Given the description of an element on the screen output the (x, y) to click on. 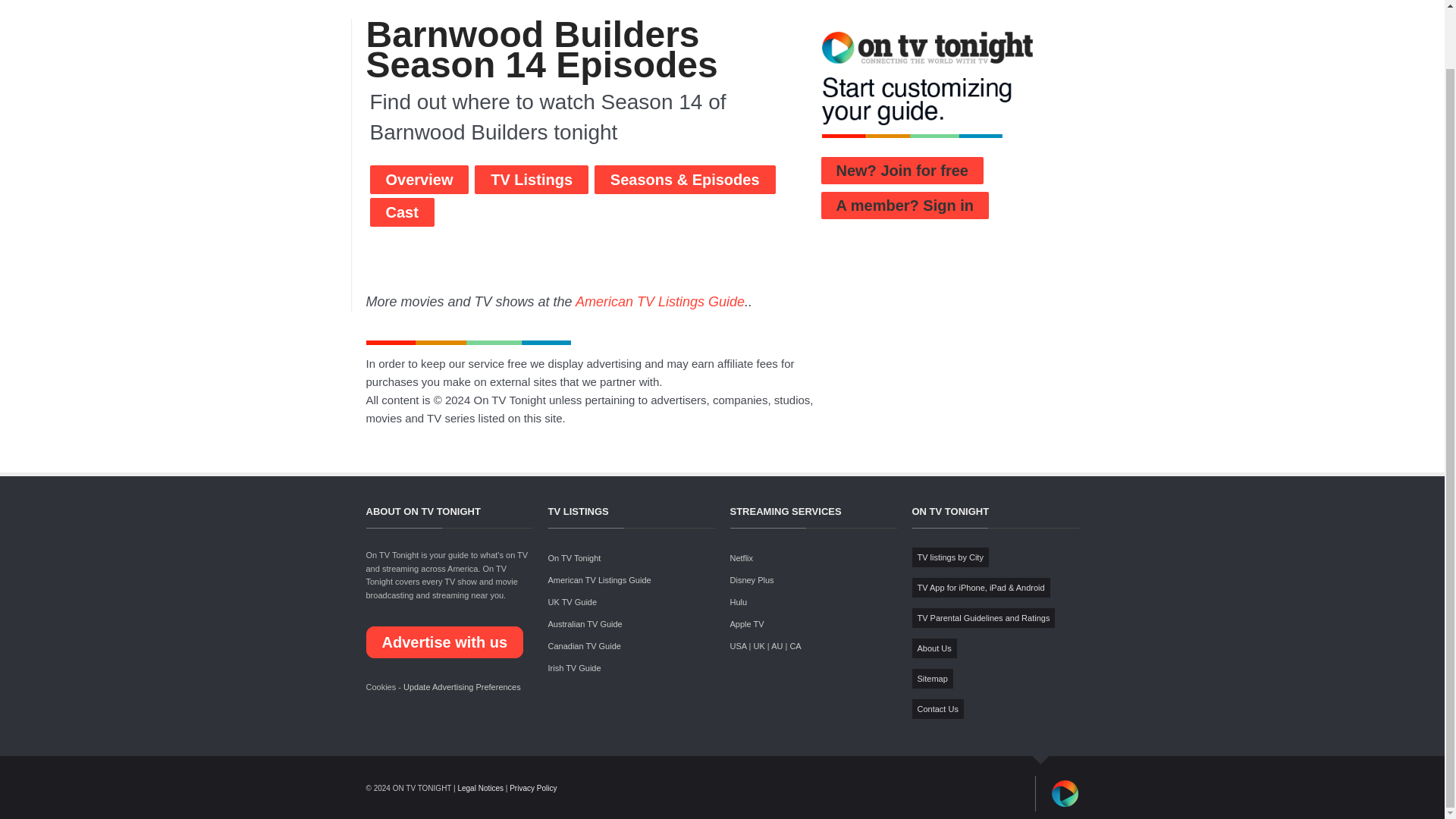
TV Listings (531, 179)
HOME (657, 2)
Overview (418, 179)
American TV Listings Guide (659, 301)
TV APPS (845, 2)
Cast (401, 212)
STREAMING (786, 2)
TV LISTINGS (717, 2)
CONTACT US (1037, 2)
ABOUT US (970, 2)
